Given the description of an element on the screen output the (x, y) to click on. 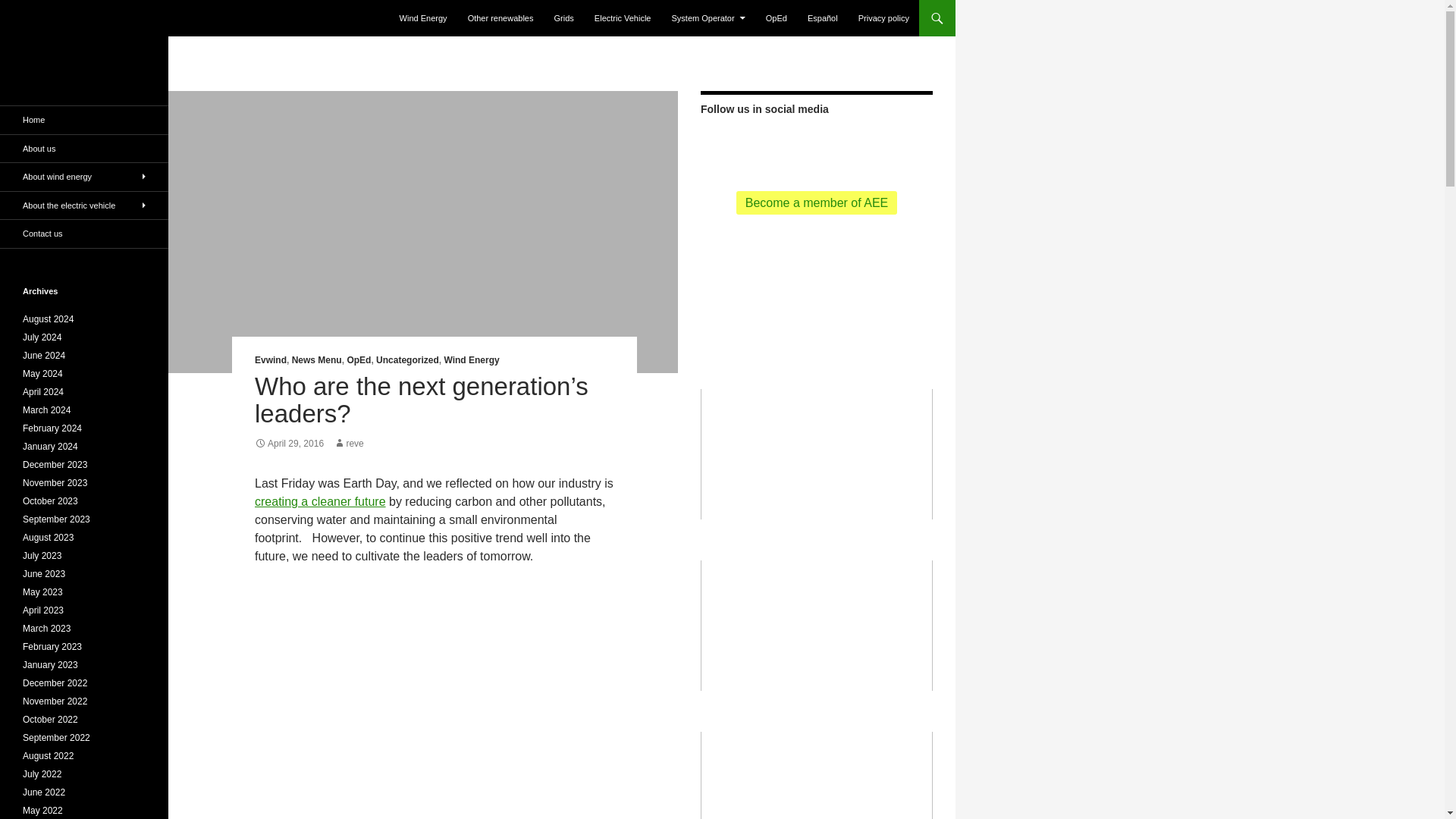
creating a cleaner future (319, 501)
April 29, 2016 (288, 443)
Evwind (270, 359)
Grids (563, 18)
RSS (761, 145)
flickr (871, 144)
RSS (762, 144)
Privacy policy (883, 18)
youtube (843, 145)
System Operator (708, 18)
